Given the description of an element on the screen output the (x, y) to click on. 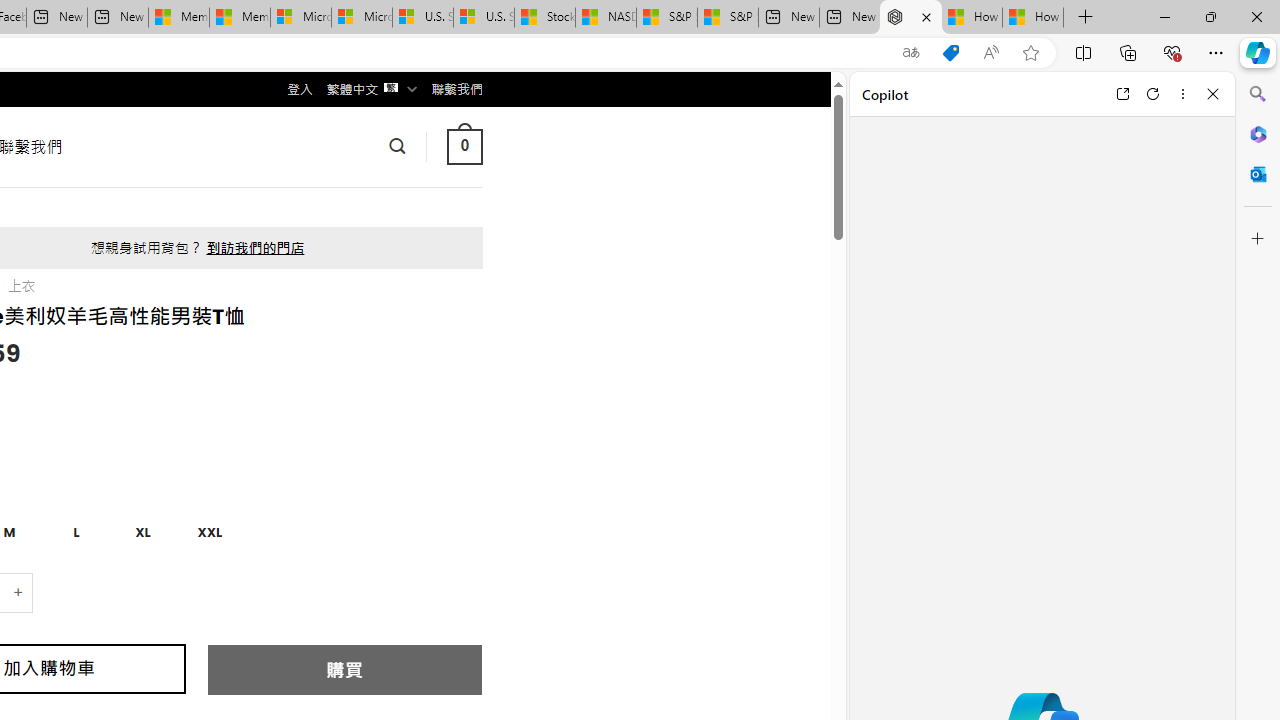
+ (19, 591)
Microsoft 365 (1258, 133)
 0  (464, 146)
Outlook (1258, 174)
Show translate options (910, 53)
S&P 500, Nasdaq end lower, weighed by Nvidia dip | Watch (727, 17)
